Given the description of an element on the screen output the (x, y) to click on. 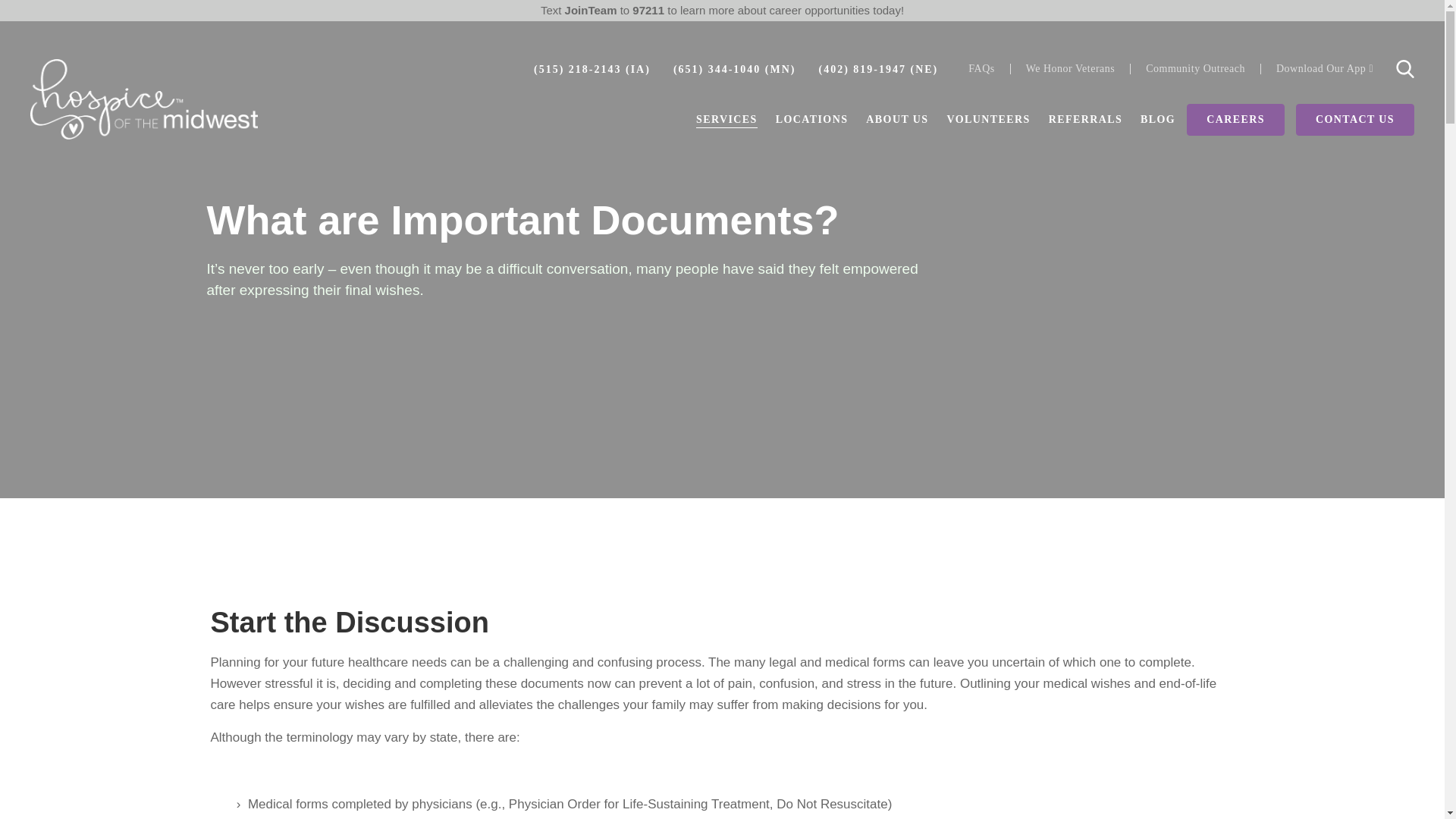
LOCATIONS (812, 119)
VOLUNTEERS (987, 119)
FAQs (980, 68)
We Honor Veterans (1069, 68)
Community Outreach (1195, 68)
ABOUT US (897, 119)
Download Our App (1324, 68)
SERVICES (726, 119)
